Given the description of an element on the screen output the (x, y) to click on. 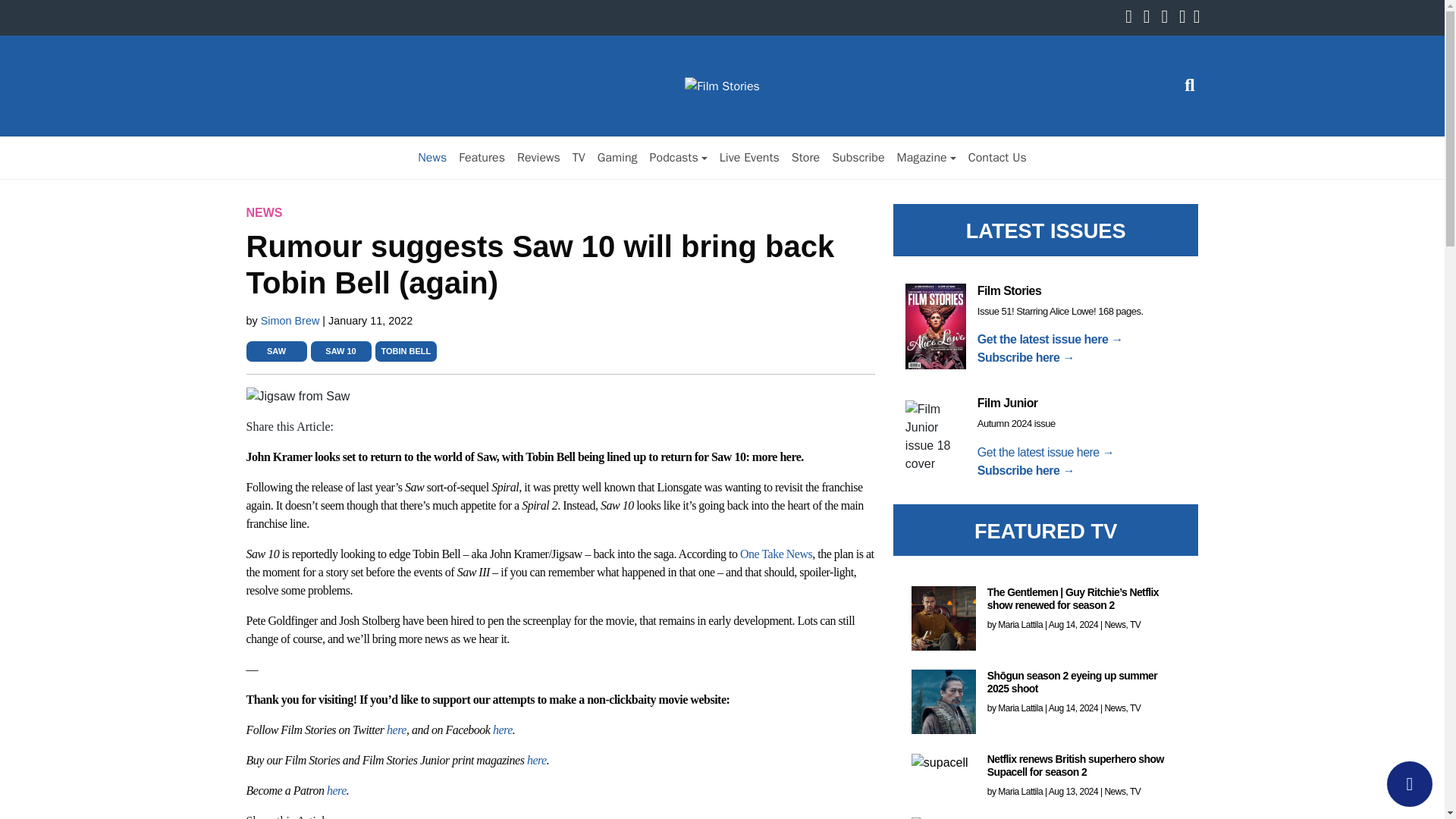
Podcasts (678, 157)
SAW 10 (339, 350)
News (432, 157)
Magazine (924, 157)
Simon Brew (291, 320)
Live Events (749, 157)
Contact Us (997, 157)
Store (805, 157)
NEWS (264, 212)
tobin bell (405, 350)
